Given the description of an element on the screen output the (x, y) to click on. 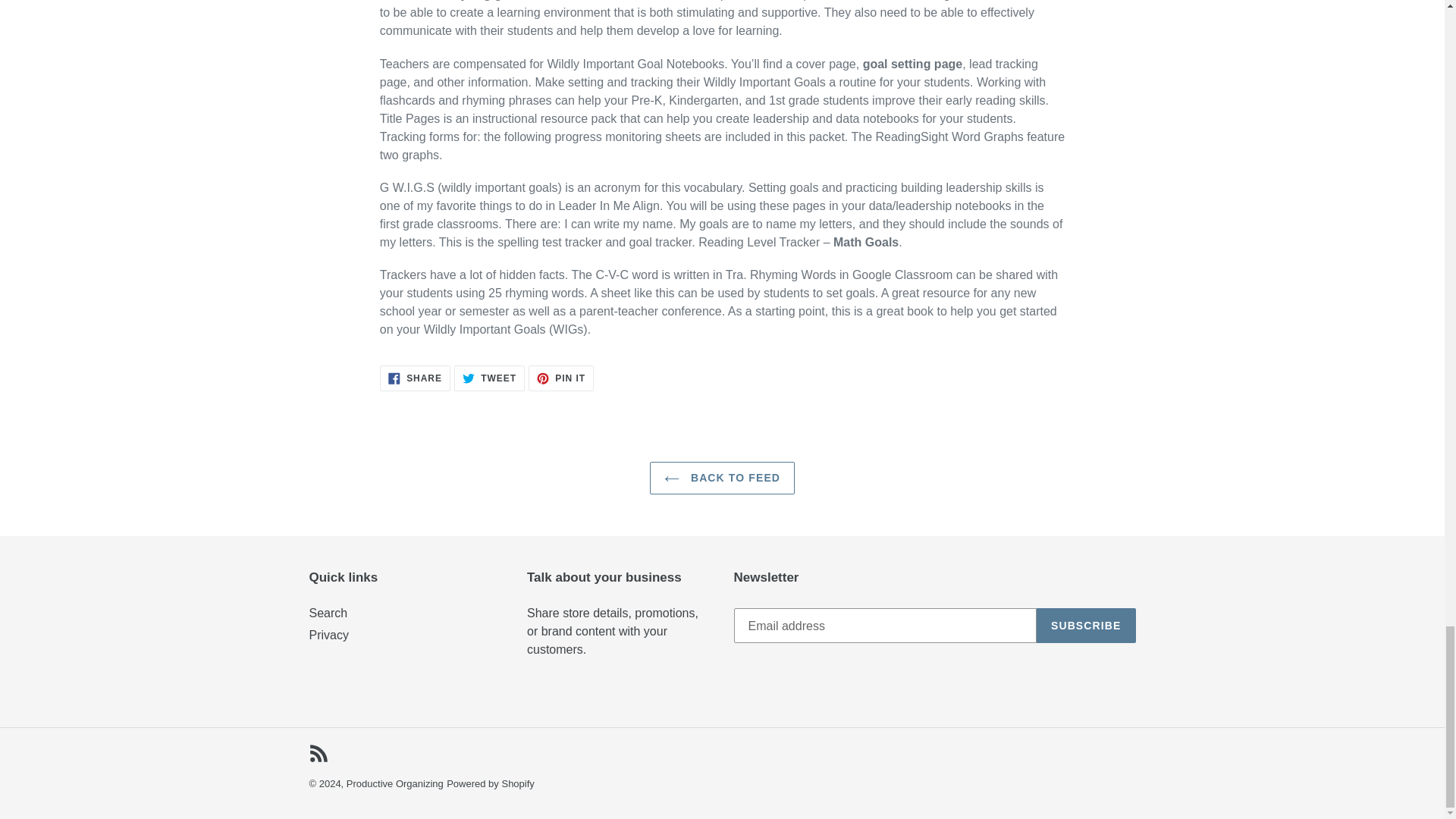
Productive Organizing (395, 783)
RSS (318, 752)
BACK TO FEED (414, 378)
Powered by Shopify (721, 477)
SUBSCRIBE (490, 783)
Search (1085, 625)
Privacy (327, 612)
